Given the description of an element on the screen output the (x, y) to click on. 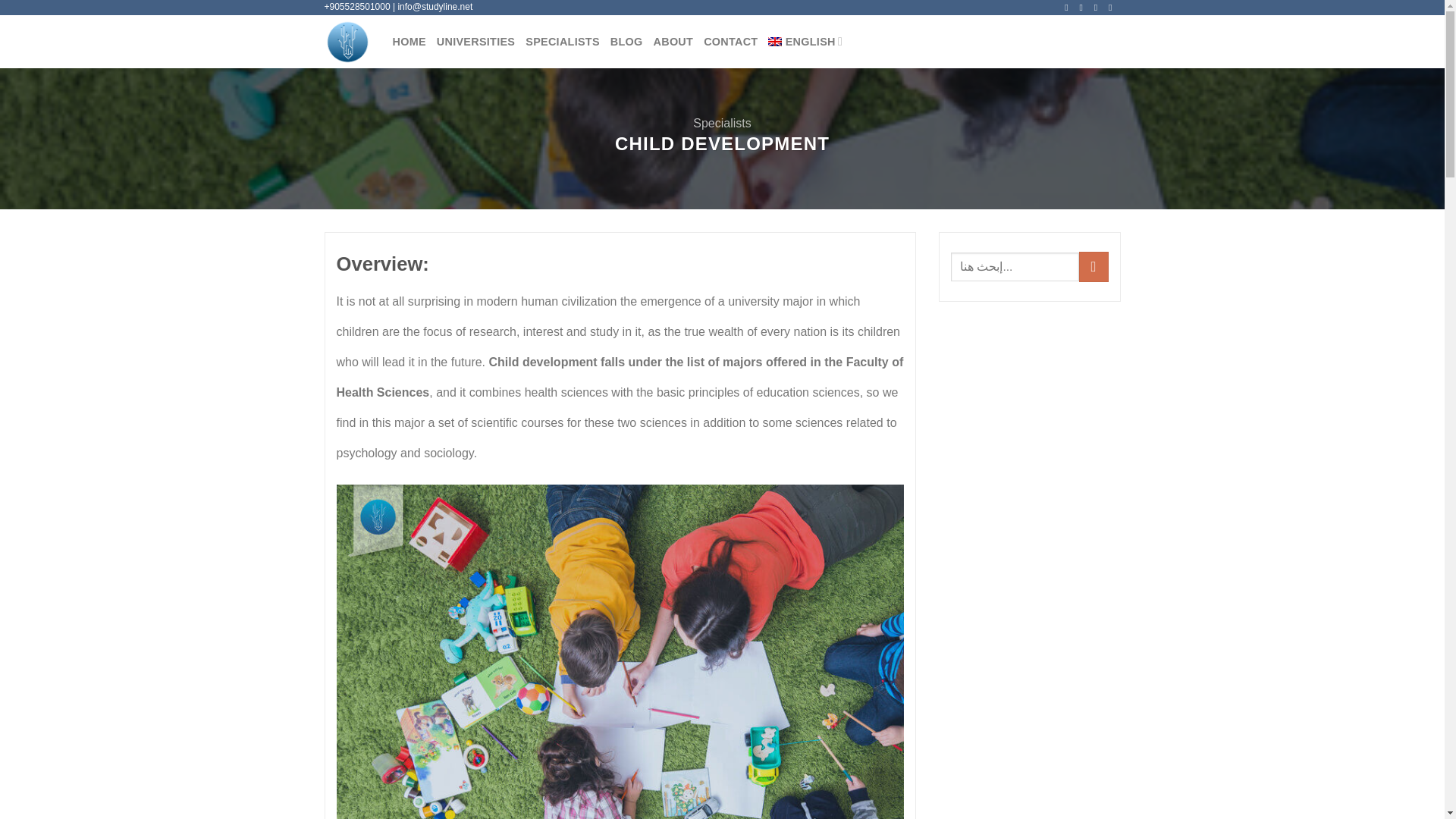
UNIVERSITIES (475, 41)
CONTACT (730, 41)
HOME (409, 41)
ENGLISH (805, 41)
Specialists (722, 123)
BLOG (626, 41)
SPECIALISTS (562, 41)
ABOUT (673, 41)
English (805, 41)
